Given the description of an element on the screen output the (x, y) to click on. 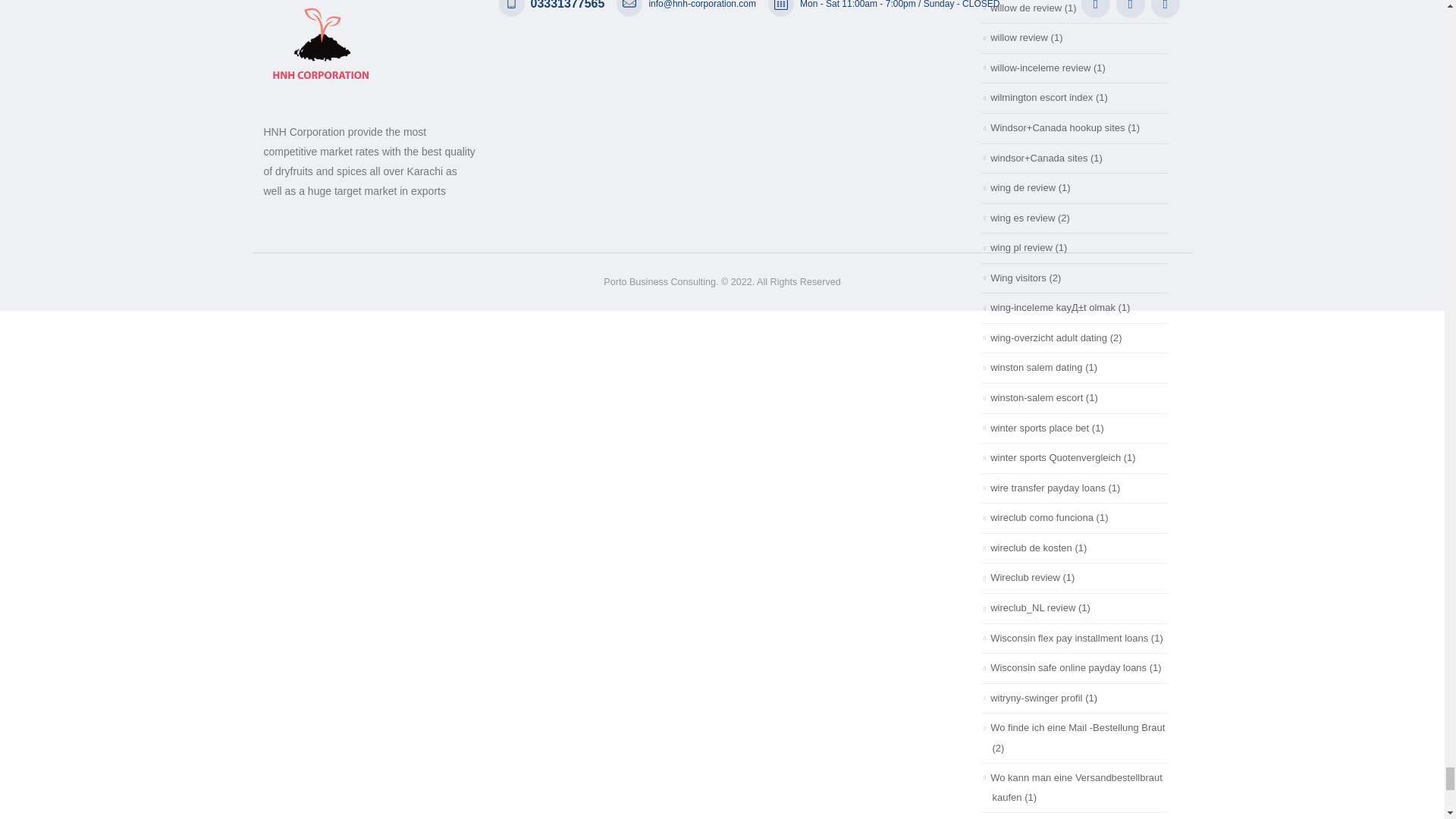
Instagram (1165, 9)
Twitter (1130, 9)
Facebook (1095, 9)
